Given the description of an element on the screen output the (x, y) to click on. 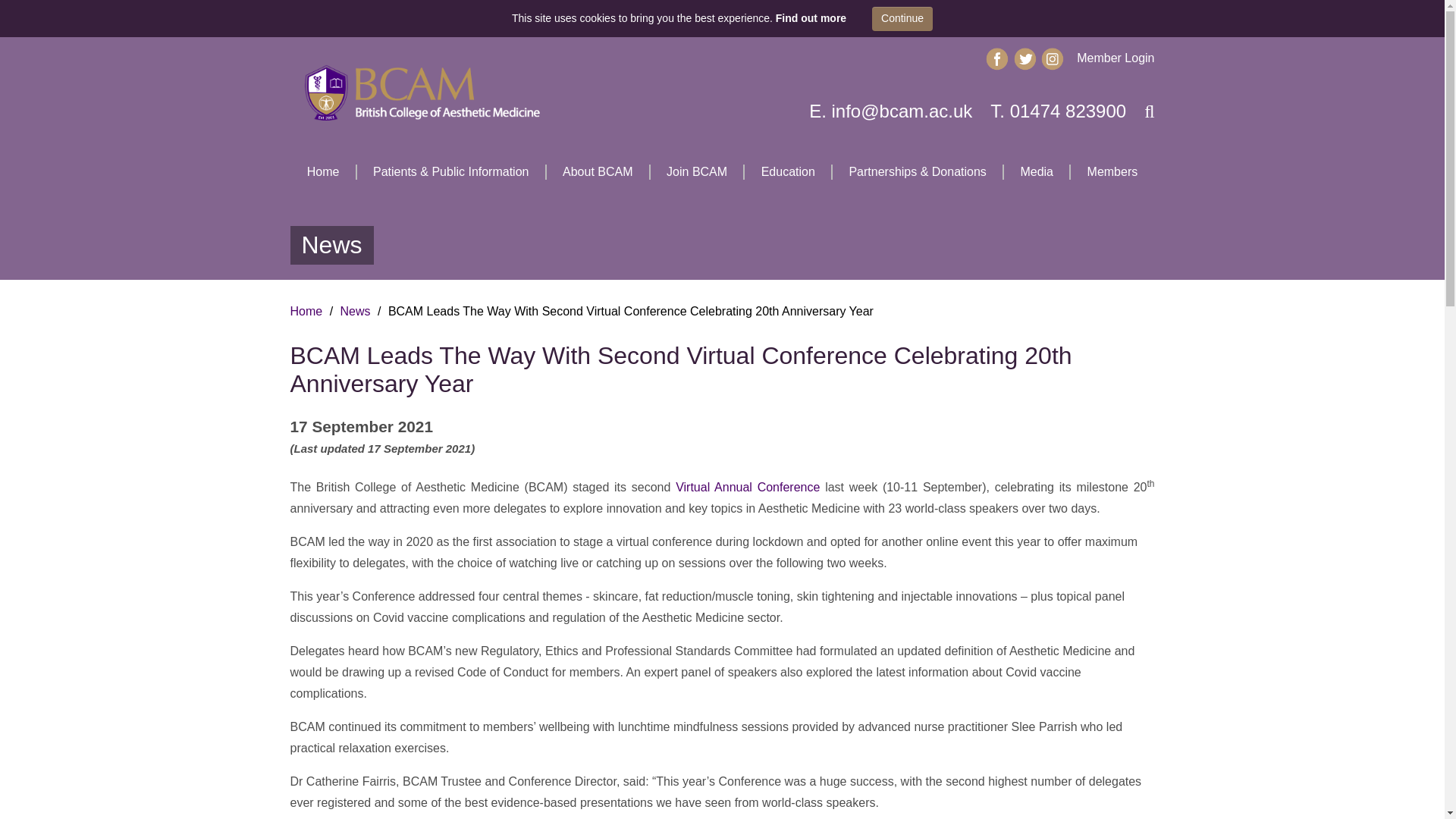
Member Login (1115, 57)
Skip to main content (21, 21)
Continue (902, 18)
01474 823900 (1068, 110)
Find out more (810, 18)
Continue (902, 18)
Home (322, 171)
